Given the description of an element on the screen output the (x, y) to click on. 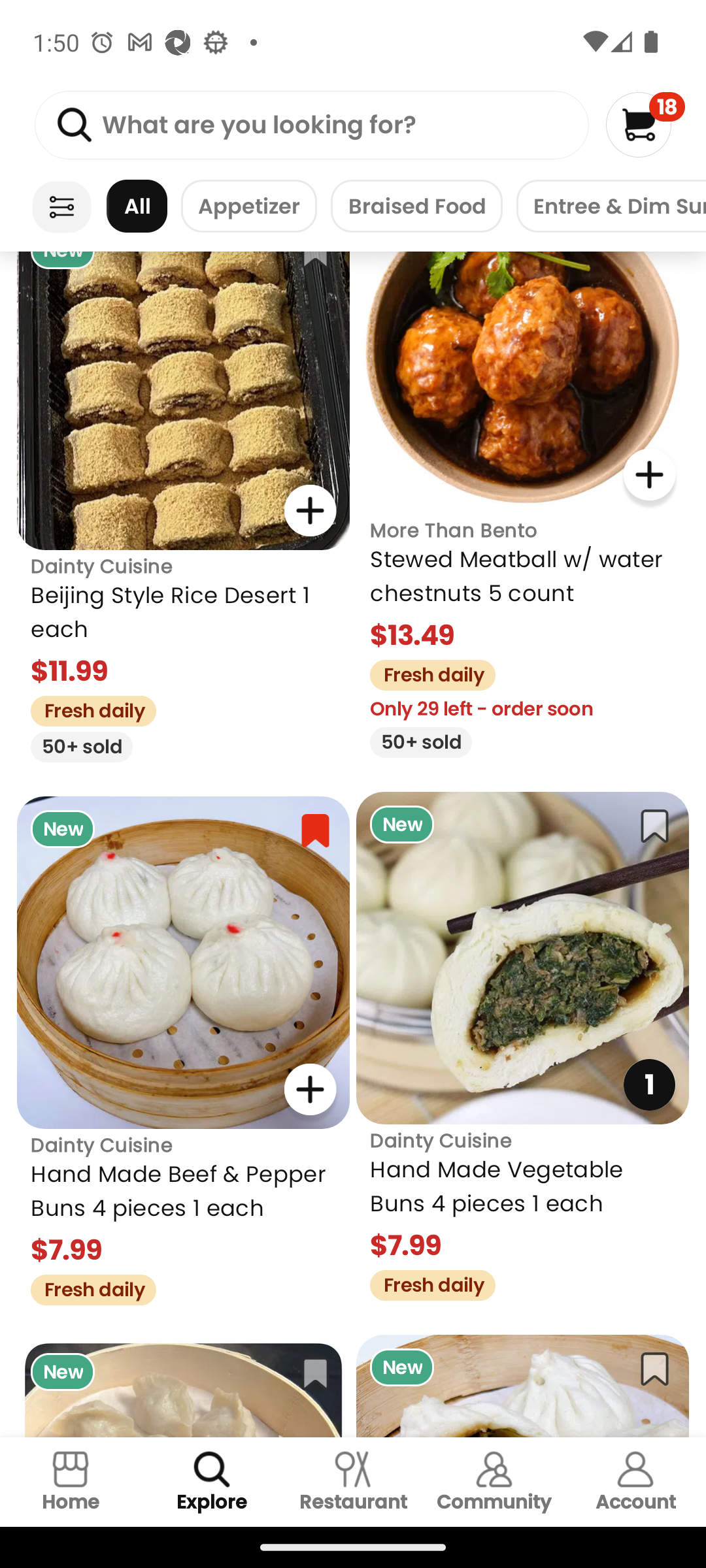
What are you looking for? (311, 124)
18 (644, 124)
All (136, 206)
Appetizer (248, 206)
Braised Food (416, 206)
Entree & Dim Sum (611, 206)
Fresh daily (425, 672)
Fresh daily (86, 707)
1 (648, 1084)
Fresh daily (425, 1283)
Fresh daily (86, 1287)
Home (70, 1482)
Explore (211, 1482)
Restaurant (352, 1482)
Community (493, 1482)
Account (635, 1482)
